Given the description of an element on the screen output the (x, y) to click on. 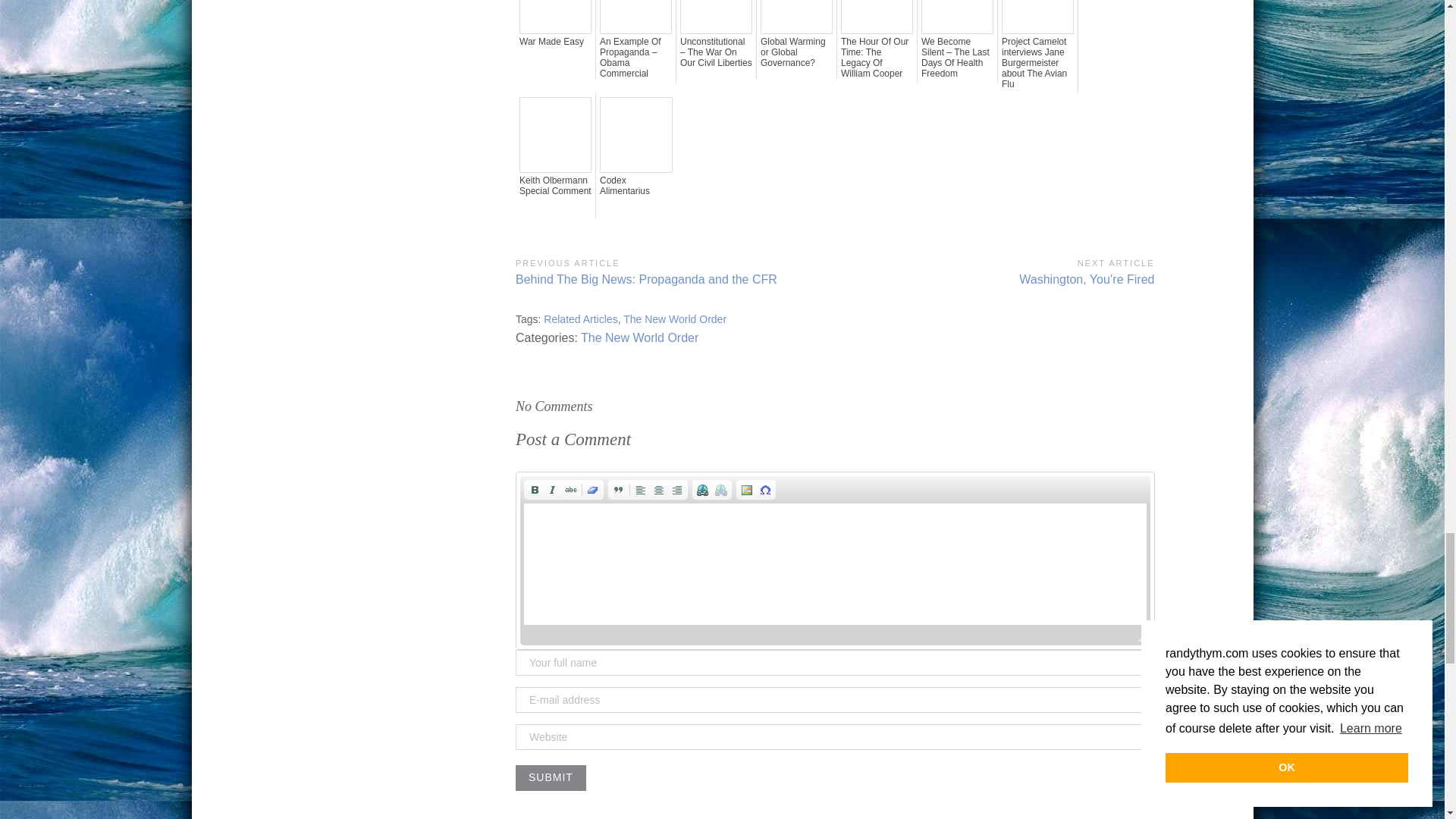
Remove Format (592, 489)
Italic (552, 489)
Bold (534, 489)
Center (658, 489)
Block Quote (618, 489)
Align Left (640, 489)
Submit (550, 777)
Align Right (676, 489)
Strikethrough (570, 489)
